Given the description of an element on the screen output the (x, y) to click on. 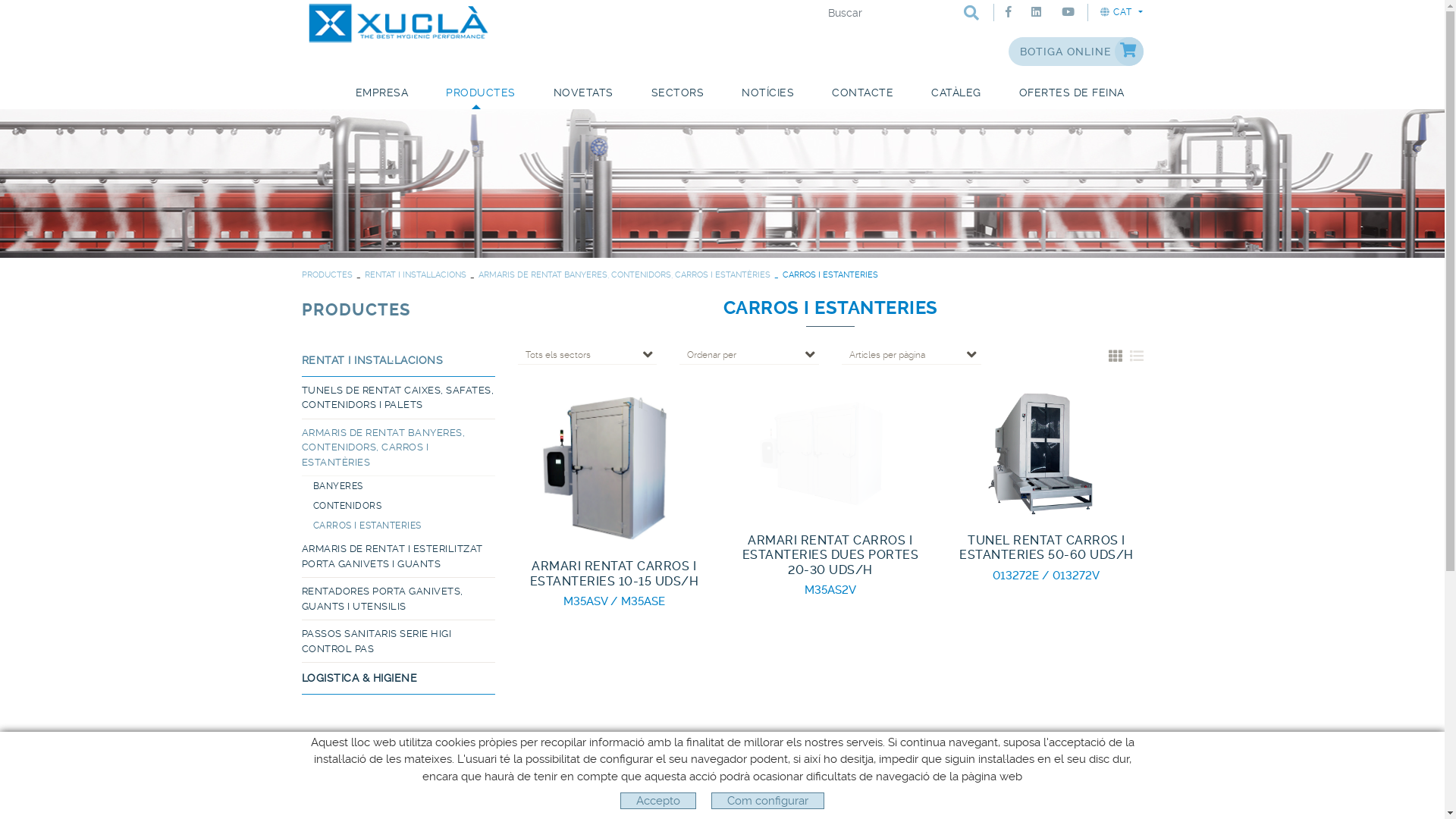
CAT Element type: text (1120, 11)
SECTORS Element type: text (677, 93)
CONTACTE Element type: text (862, 93)
CONTENIDORS Element type: text (403, 505)
Com configurar Element type: text (767, 800)
PRODUCTES Element type: text (480, 93)
TUNEL RENTAT CARROS I ESTANTERIES 50-60 UDS/H Element type: hover (1045, 453)
BANYERES Element type: text (403, 485)
BOTIGA ONLINE   Element type: text (1075, 51)
ARMARI RENTAT CARROS I ESTANTERIES DUES PORTES 20-30 UDS/H Element type: hover (829, 408)
OFERTES DE FEINA Element type: text (1070, 93)
TUNELS DE RENTAT CAIXES, SAFATES, CONTENIDORS I PALETS Element type: text (398, 397)
LOGISTICA & HIGIENE Element type: text (398, 678)
EMPRESA Element type: text (381, 93)
PRODUCTES Element type: text (355, 309)
ARMARIS DE RENTAT I ESTERILITZAT PORTA GANIVETS I GUANTS Element type: text (398, 556)
RENTADORES PORTA GANIVETS, GUANTS I UTENSILIS Element type: text (398, 598)
PASSOS SANITARIS SERIE HIGI CONTROL PAS Element type: text (398, 641)
NOVETATS Element type: text (582, 93)
PRODUCTES Element type: text (326, 274)
CARROS I ESTANTERIES Element type: text (403, 525)
ARMARI RENTAT CARROS I ESTANTERIES 10-15 UDS/H Element type: hover (613, 466)
